Given the description of an element on the screen output the (x, y) to click on. 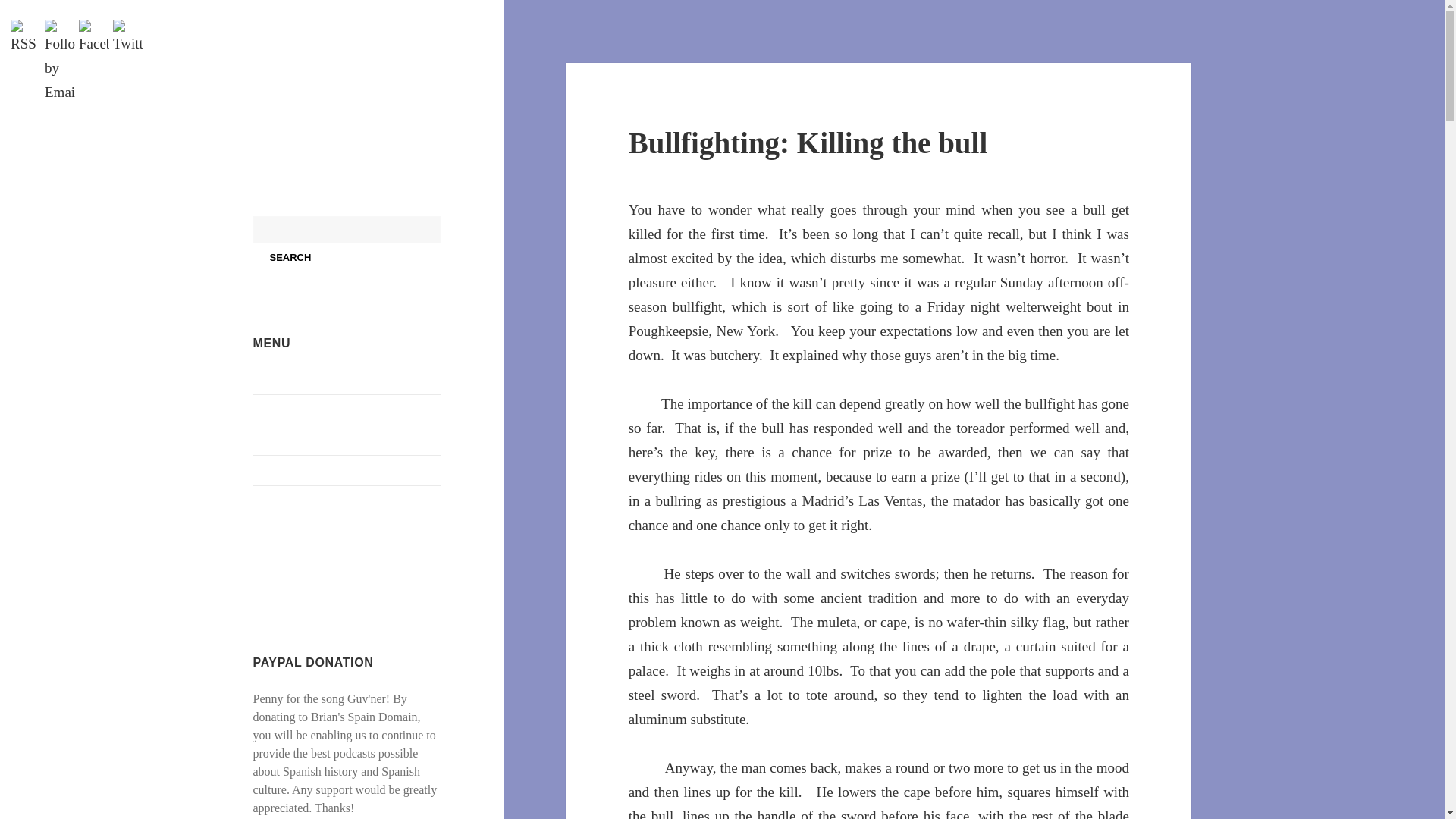
Search (291, 257)
Brian's Spain Domain (317, 86)
Other Spain Domain Products (325, 440)
Contact (272, 470)
Search (291, 257)
Patreon Membership (304, 500)
About Brian (283, 379)
Become a Patron! (296, 581)
